Given the description of an element on the screen output the (x, y) to click on. 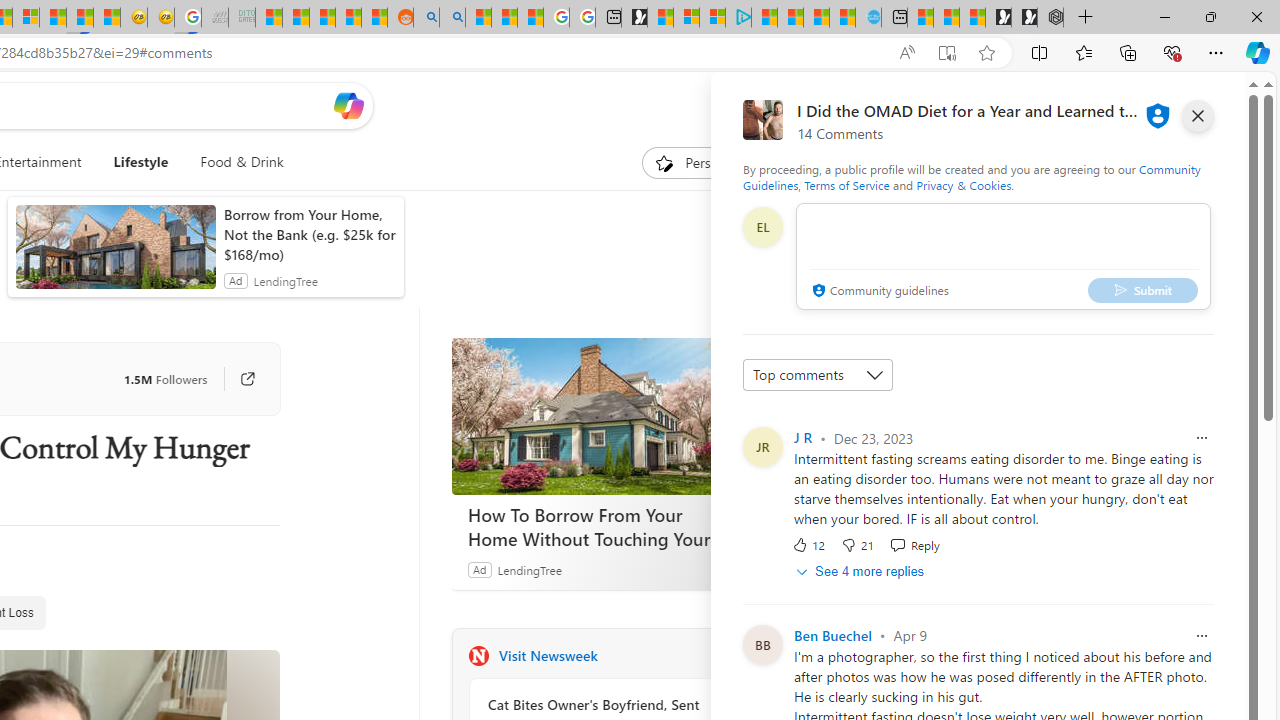
close (1197, 115)
Report comment (1201, 635)
Submit (1143, 290)
